Given the description of an element on the screen output the (x, y) to click on. 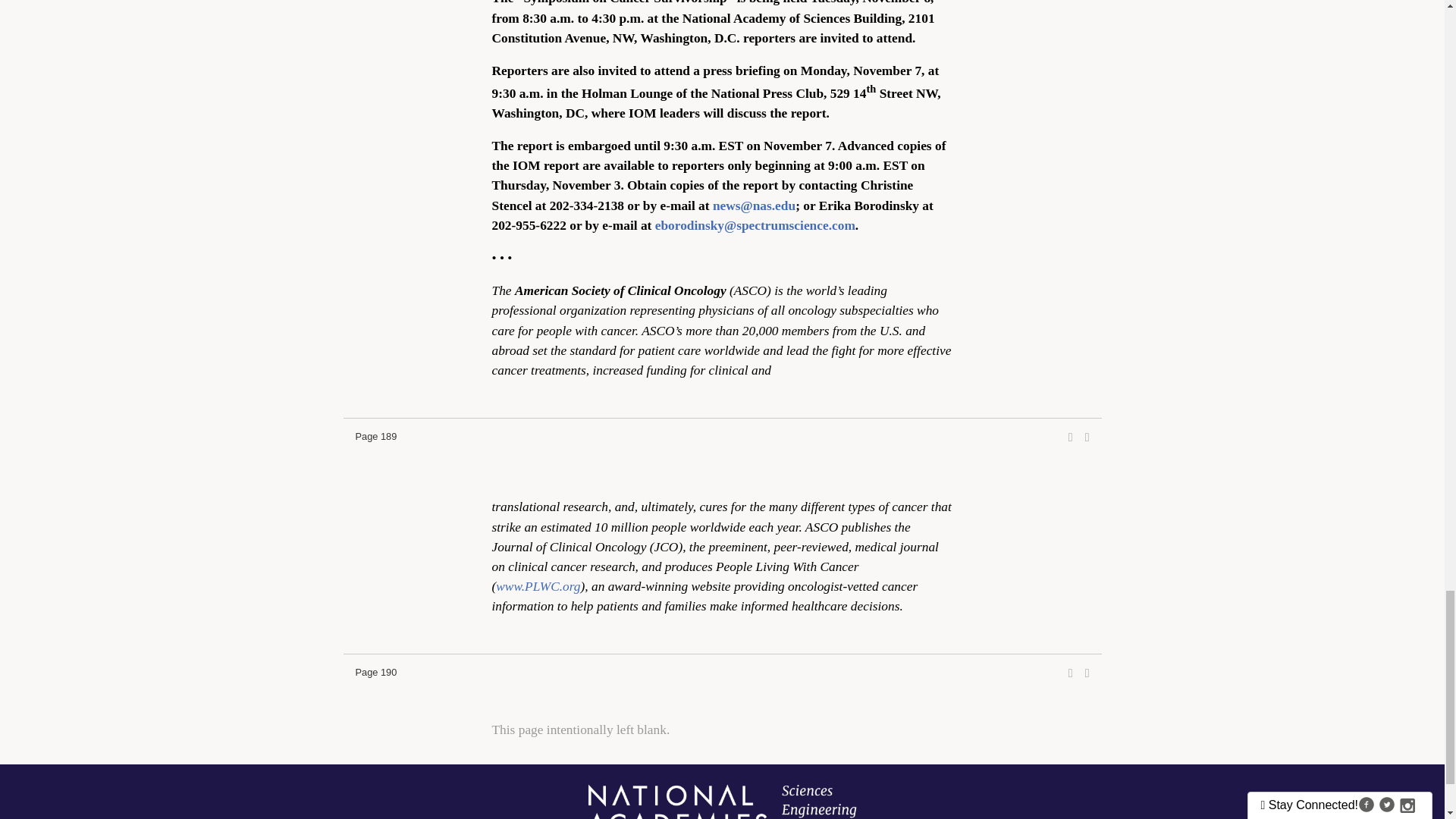
www.PLWC.org (537, 586)
